Given the description of an element on the screen output the (x, y) to click on. 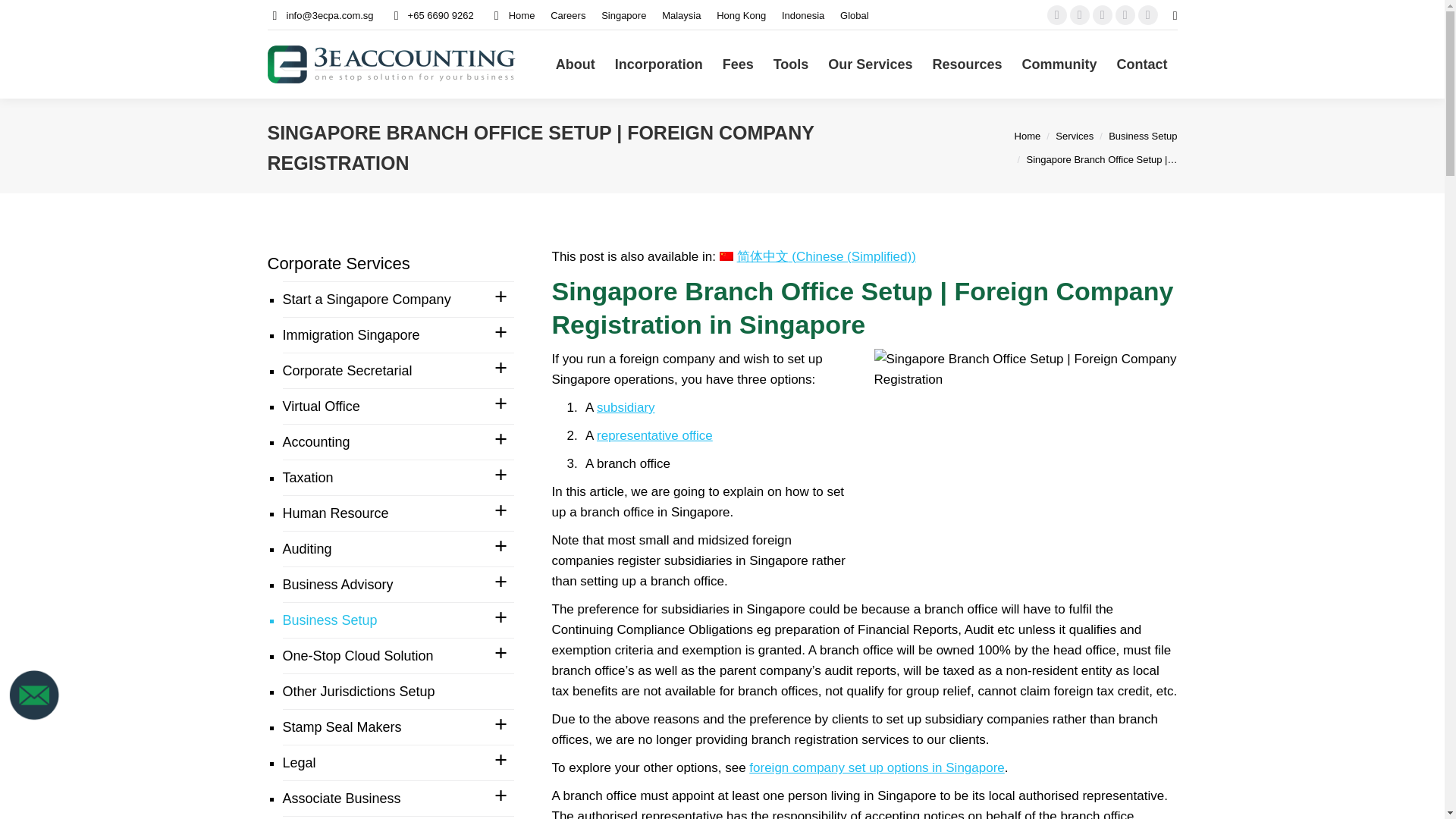
Facebook page opens in new window (1056, 14)
Home (512, 14)
Singapore (623, 14)
3E Accounting Hong Kong (740, 14)
Hong Kong (740, 14)
Go! (24, 16)
Malaysia (681, 14)
X page opens in new window (1079, 14)
Global (854, 14)
Instagram page opens in new window (1147, 14)
X page opens in new window (1079, 14)
Indonesia (802, 14)
Incorporation (659, 64)
3E Accounting Careers (567, 14)
YouTube page opens in new window (1102, 14)
